Given the description of an element on the screen output the (x, y) to click on. 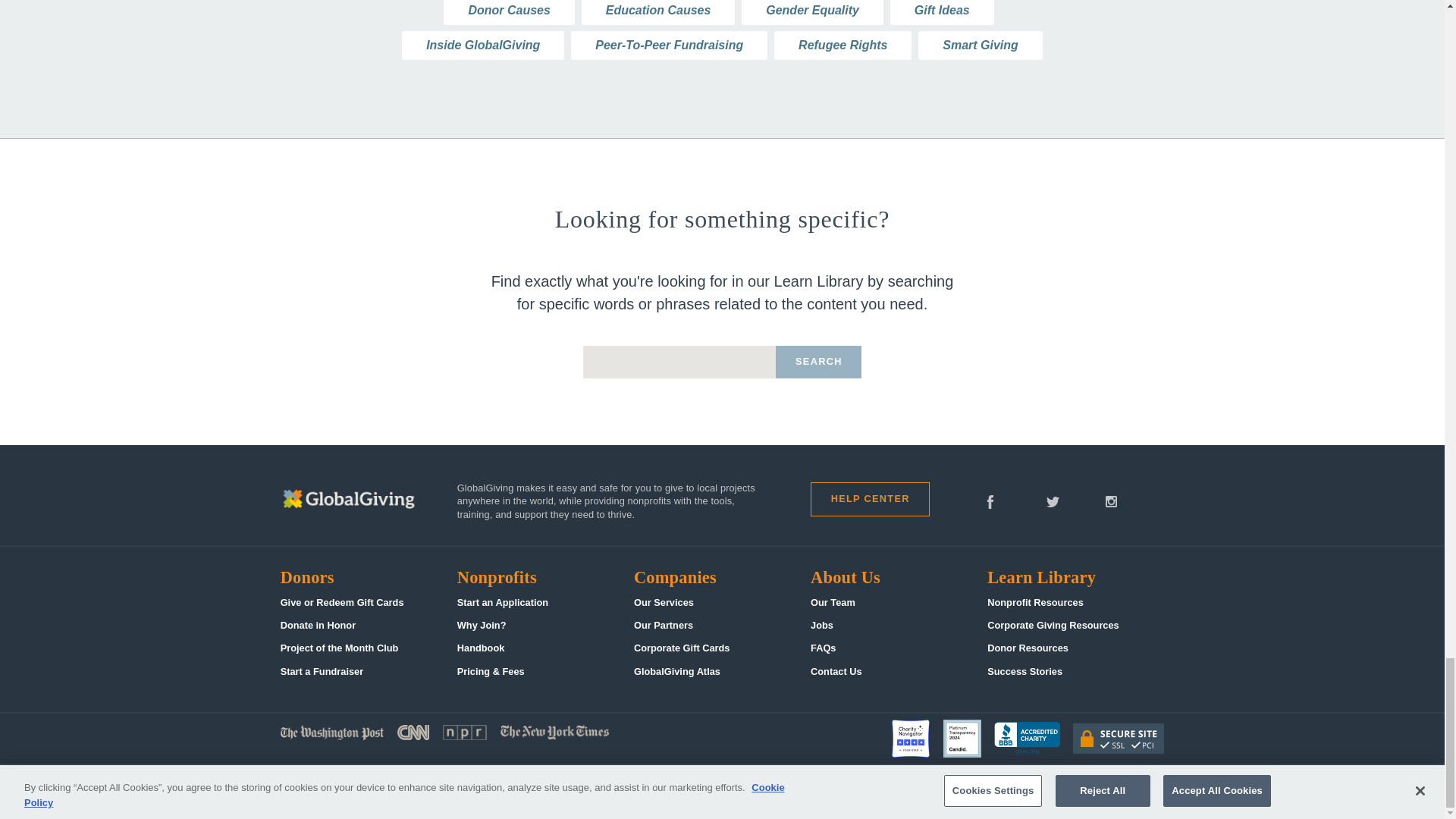
Choose your currency (913, 791)
